Given the description of an element on the screen output the (x, y) to click on. 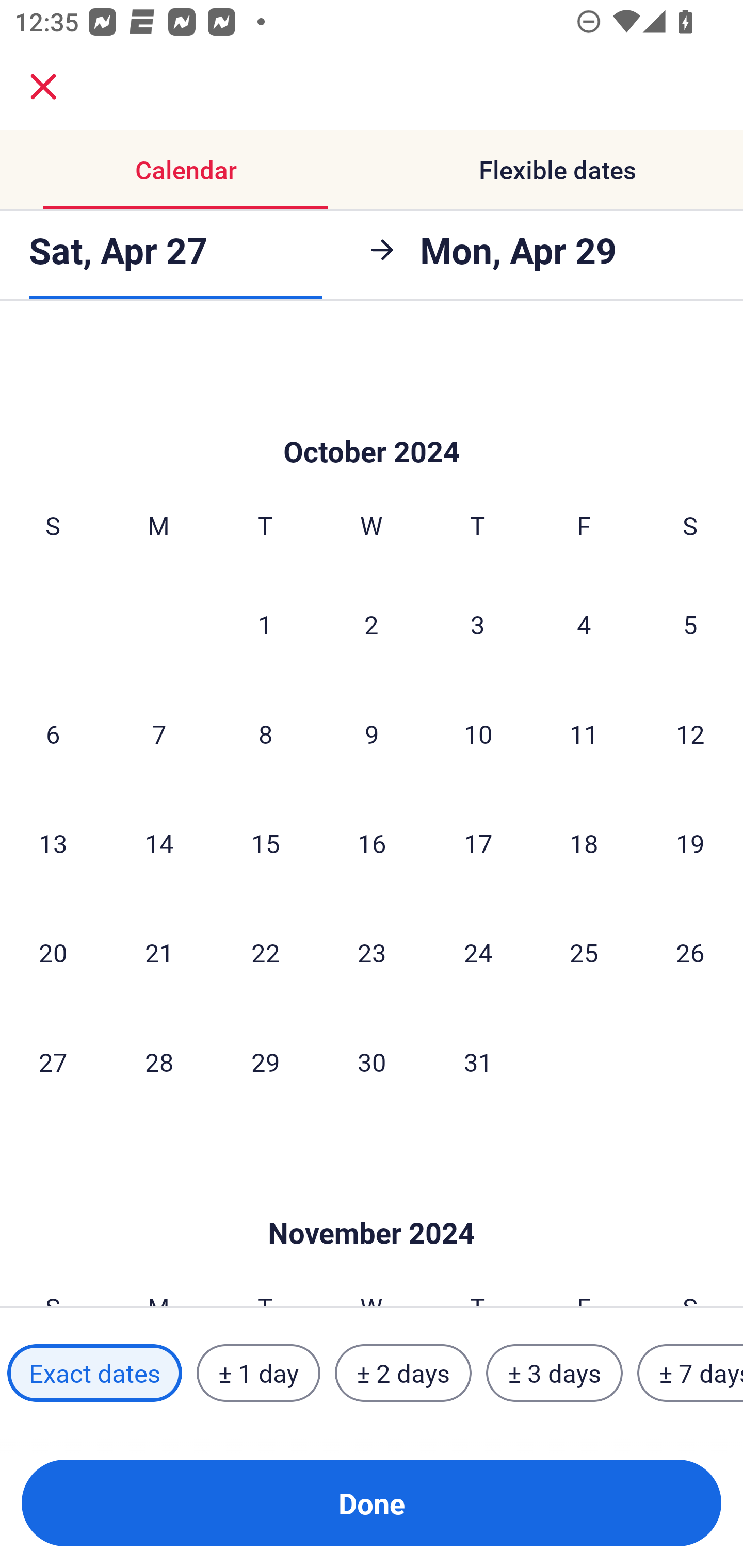
close. (43, 86)
Flexible dates (557, 170)
Skip to Done (371, 420)
1 Tuesday, October 1, 2024 (264, 623)
2 Wednesday, October 2, 2024 (371, 623)
3 Thursday, October 3, 2024 (477, 623)
4 Friday, October 4, 2024 (584, 623)
5 Saturday, October 5, 2024 (690, 623)
6 Sunday, October 6, 2024 (53, 733)
7 Monday, October 7, 2024 (159, 733)
8 Tuesday, October 8, 2024 (265, 733)
9 Wednesday, October 9, 2024 (371, 733)
10 Thursday, October 10, 2024 (477, 733)
11 Friday, October 11, 2024 (584, 733)
12 Saturday, October 12, 2024 (690, 733)
13 Sunday, October 13, 2024 (53, 842)
14 Monday, October 14, 2024 (159, 842)
15 Tuesday, October 15, 2024 (265, 842)
16 Wednesday, October 16, 2024 (371, 842)
17 Thursday, October 17, 2024 (477, 842)
18 Friday, October 18, 2024 (584, 842)
19 Saturday, October 19, 2024 (690, 842)
20 Sunday, October 20, 2024 (53, 952)
21 Monday, October 21, 2024 (159, 952)
22 Tuesday, October 22, 2024 (265, 952)
23 Wednesday, October 23, 2024 (371, 952)
24 Thursday, October 24, 2024 (477, 952)
25 Friday, October 25, 2024 (584, 952)
26 Saturday, October 26, 2024 (690, 952)
27 Sunday, October 27, 2024 (53, 1061)
28 Monday, October 28, 2024 (159, 1061)
29 Tuesday, October 29, 2024 (265, 1061)
30 Wednesday, October 30, 2024 (371, 1061)
31 Thursday, October 31, 2024 (477, 1061)
Skip to Done (371, 1201)
Exact dates (94, 1372)
± 1 day (258, 1372)
± 2 days (403, 1372)
± 3 days (553, 1372)
± 7 days (690, 1372)
Done (371, 1502)
